Given the description of an element on the screen output the (x, y) to click on. 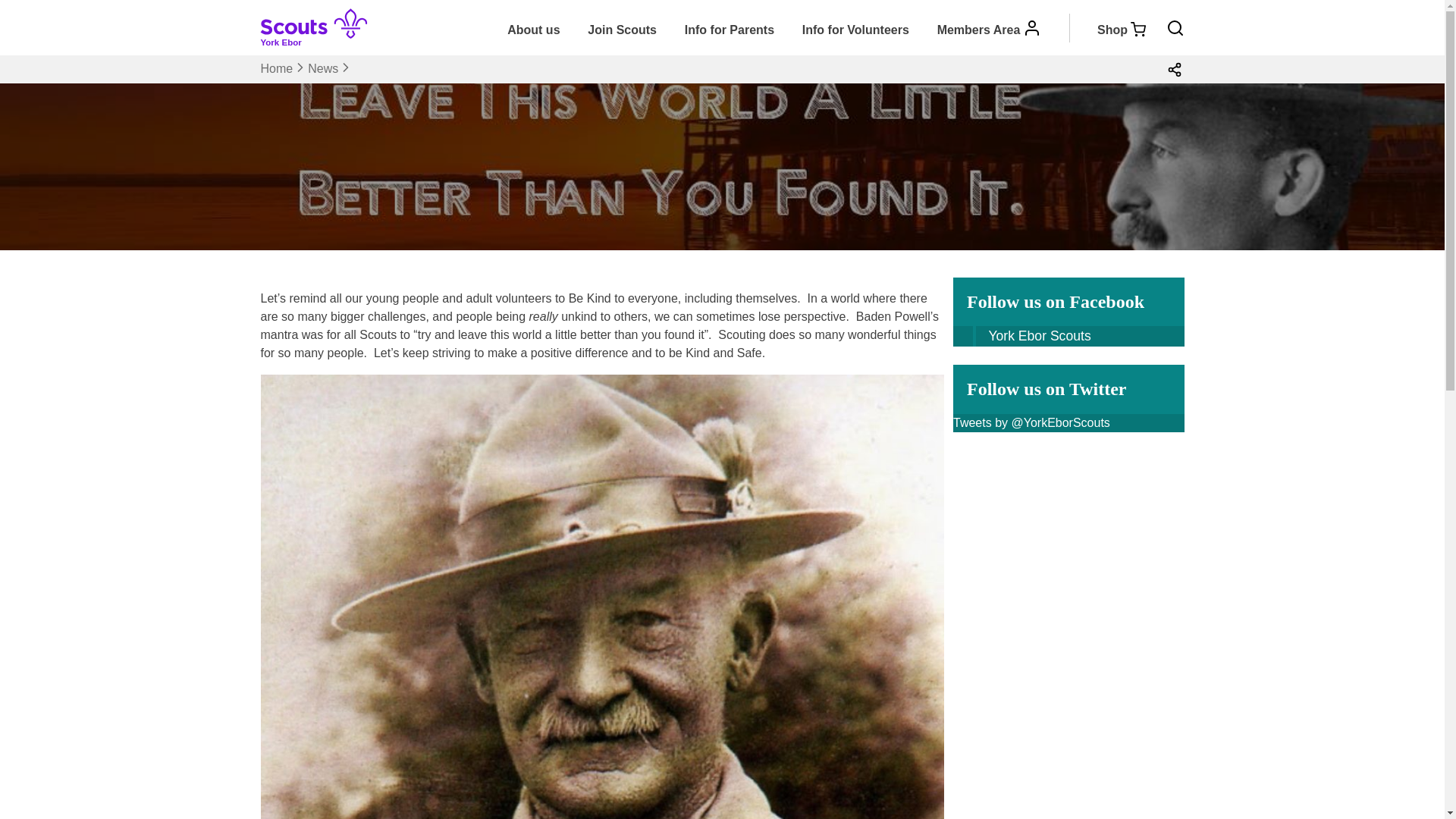
York Ebor (320, 38)
Join Scouts (621, 29)
Shop (1106, 30)
Info for Volunteers (855, 29)
Home (277, 68)
Members Area (989, 30)
Info for Parents (729, 29)
About us (533, 29)
